Given the description of an element on the screen output the (x, y) to click on. 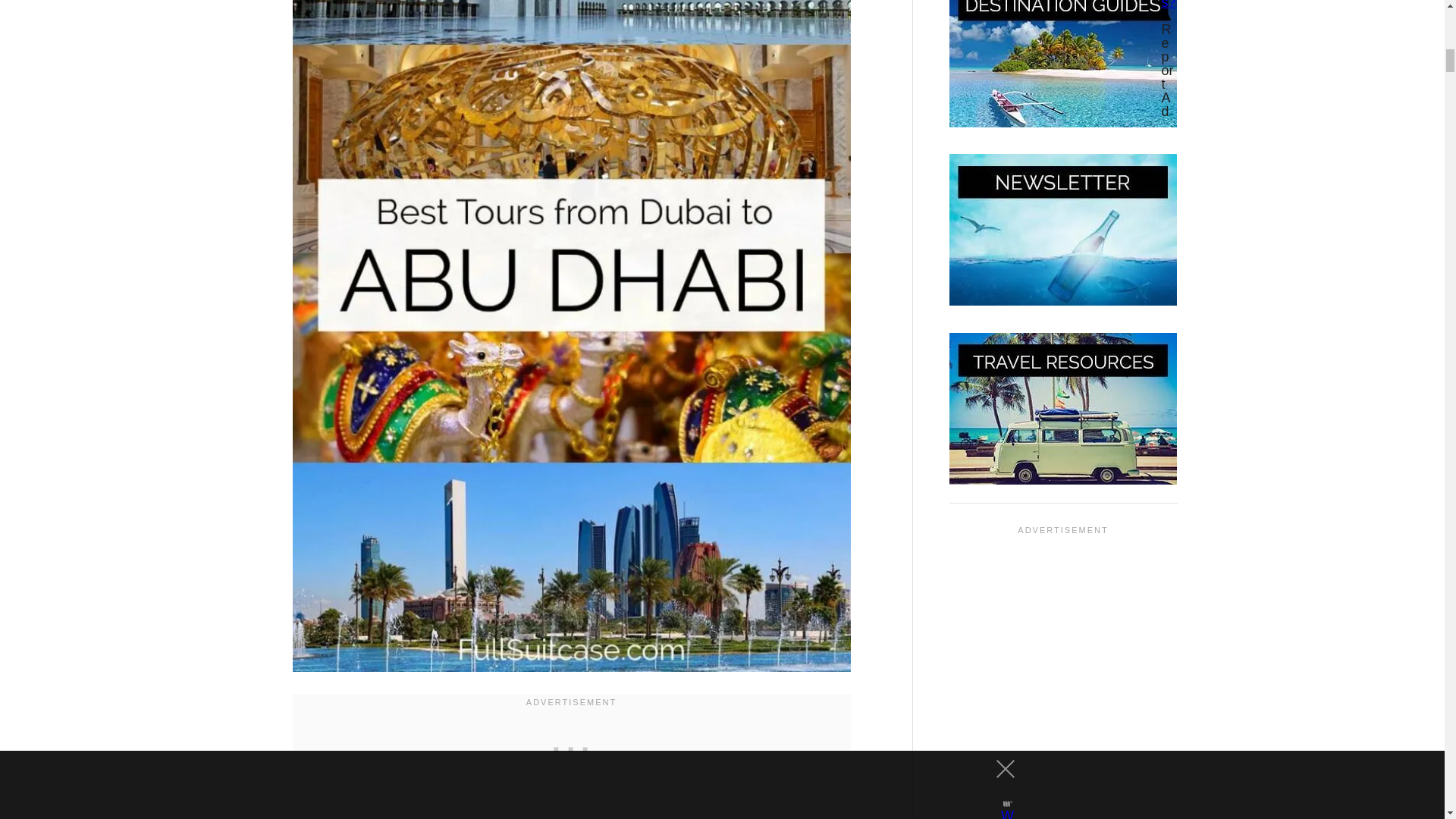
3rd party ad content (571, 745)
